Given the description of an element on the screen output the (x, y) to click on. 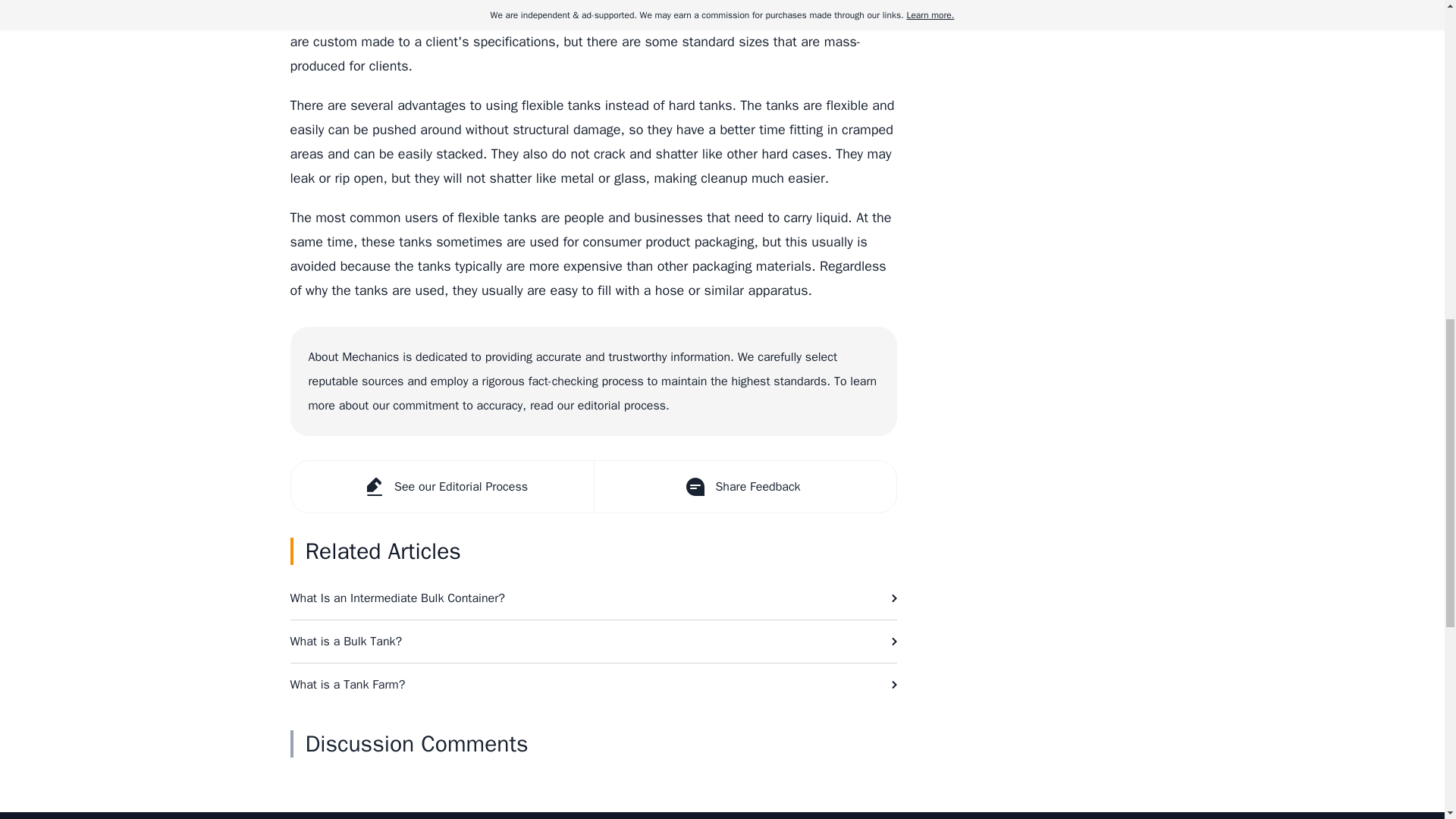
See our Editorial Process (442, 486)
Share Feedback (743, 486)
What Is an Intermediate Bulk Container? (592, 598)
What is a Tank Farm? (592, 684)
What is a Bulk Tank? (592, 640)
